Given the description of an element on the screen output the (x, y) to click on. 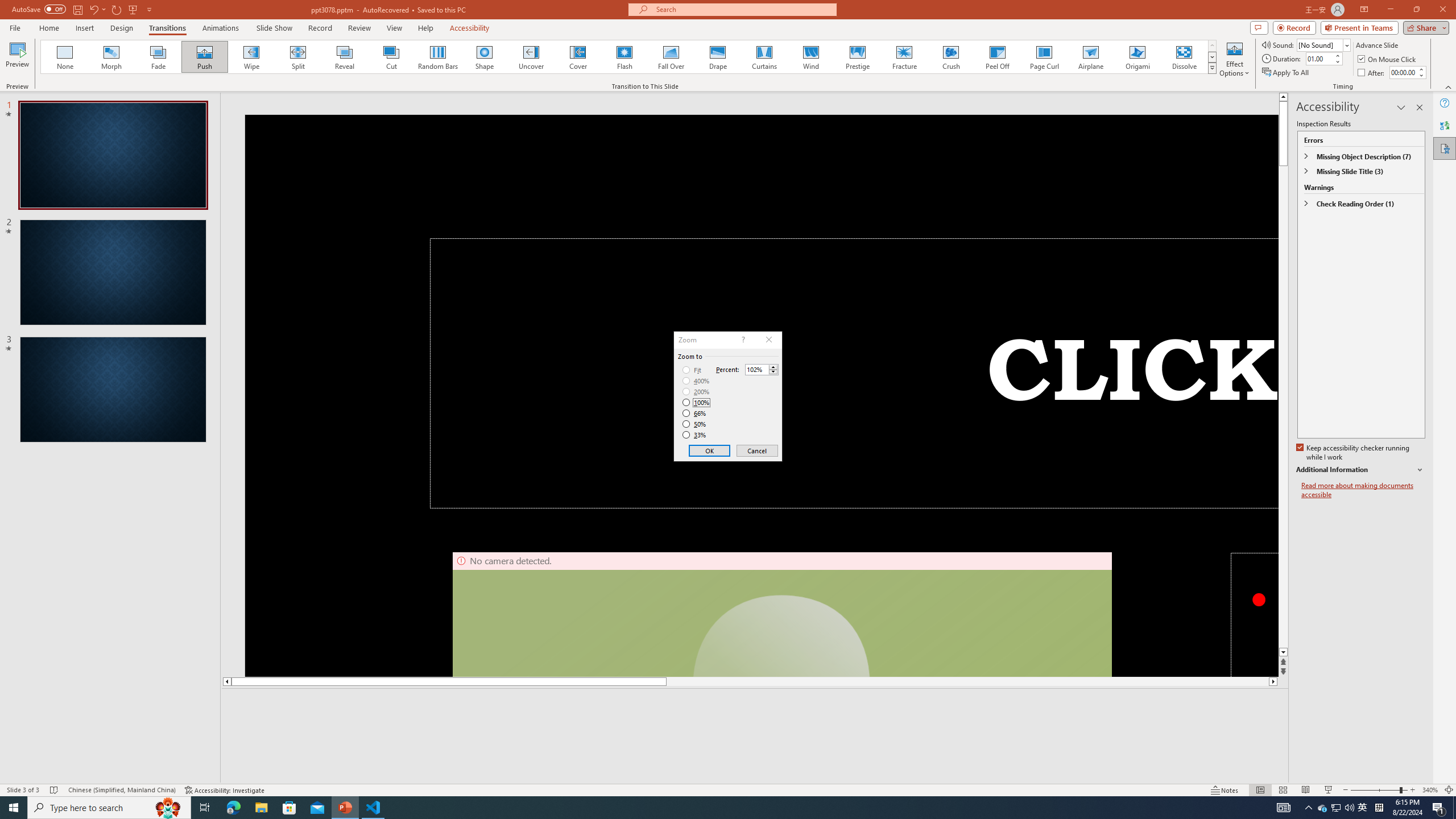
File Explorer (261, 807)
Origami (1136, 56)
Apply To All (1286, 72)
AutomationID: AnimationTransitionGallery (628, 56)
Percent (761, 369)
Fit (691, 370)
Fracture (903, 56)
Transition Effects (1212, 67)
